Given the description of an element on the screen output the (x, y) to click on. 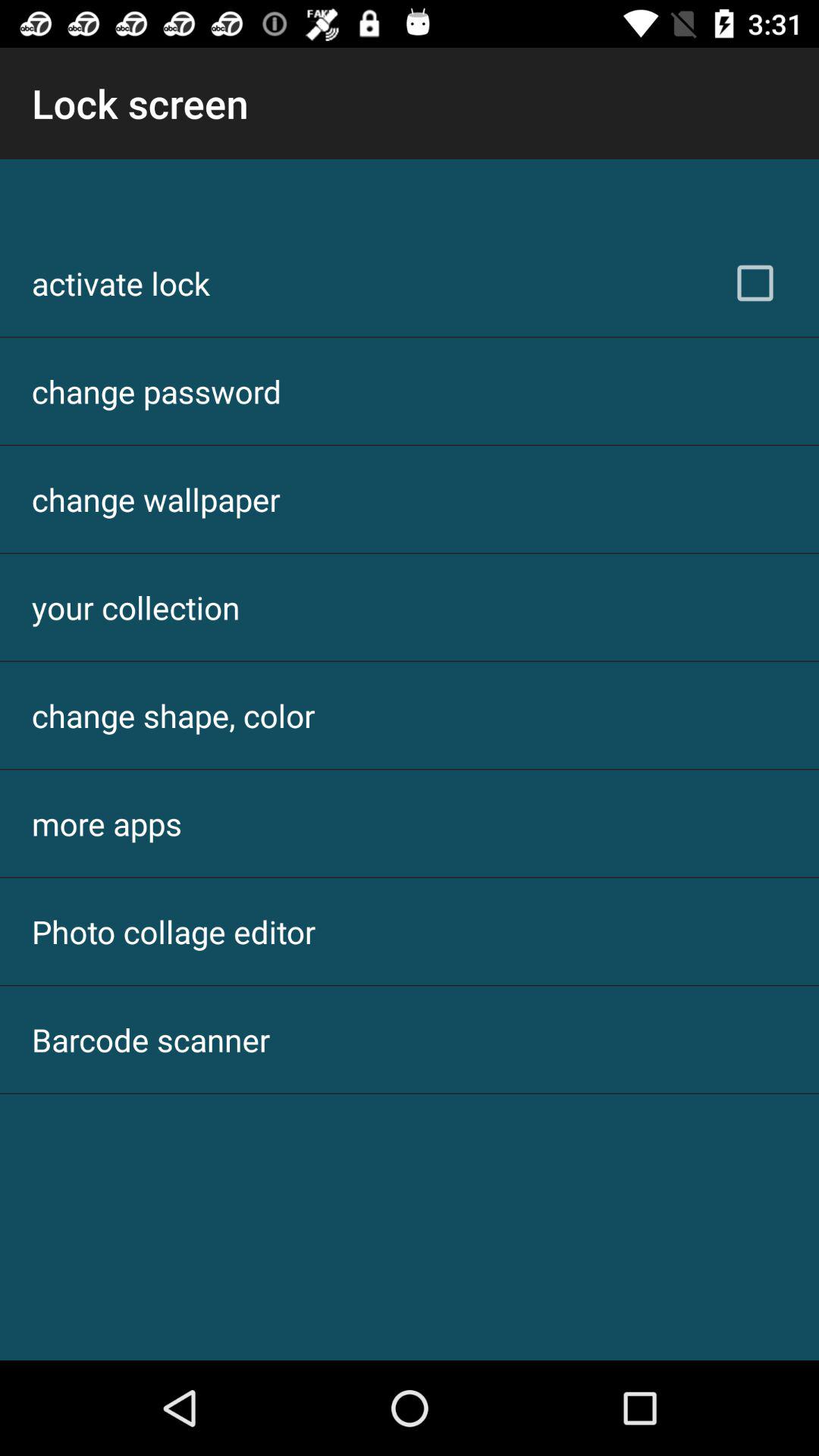
turn off item below lock screen app (120, 282)
